Given the description of an element on the screen output the (x, y) to click on. 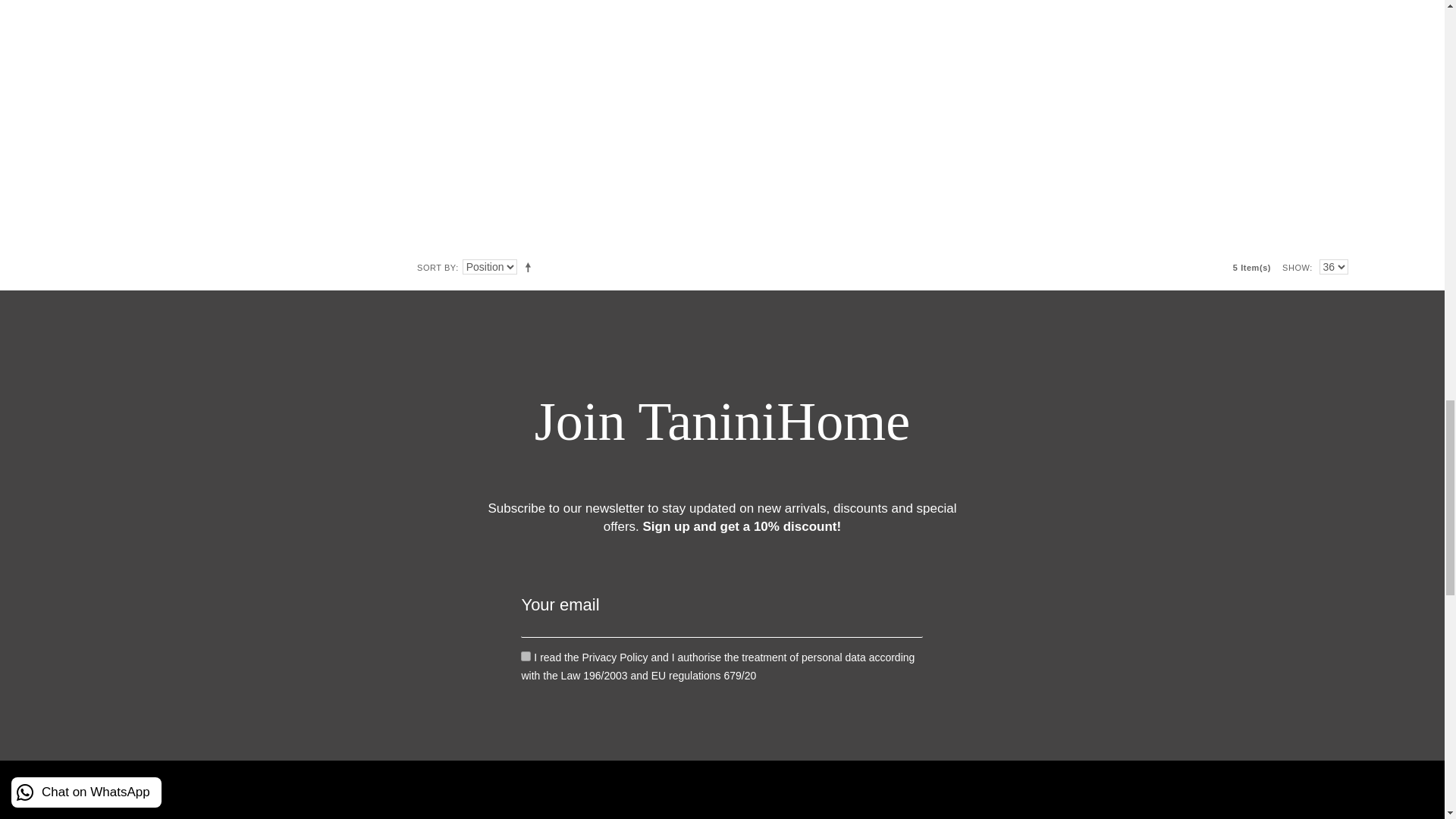
on (526, 655)
